Given the description of an element on the screen output the (x, y) to click on. 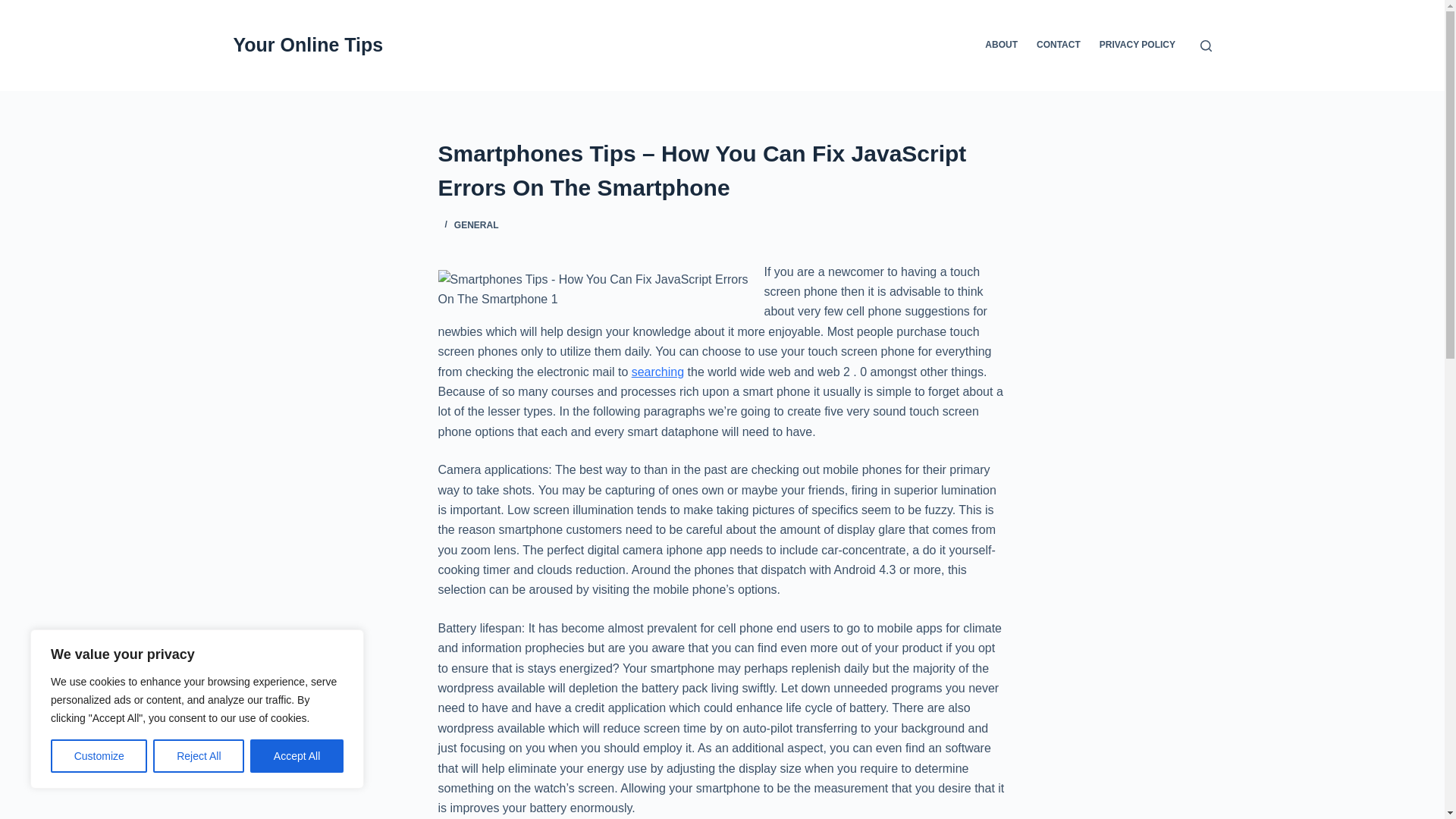
Your Online Tips (308, 44)
GENERAL (476, 225)
Skip to content (15, 7)
searching (657, 371)
Accept All (296, 756)
Reject All (198, 756)
PRIVACY POLICY (1137, 45)
Customize (98, 756)
